Given the description of an element on the screen output the (x, y) to click on. 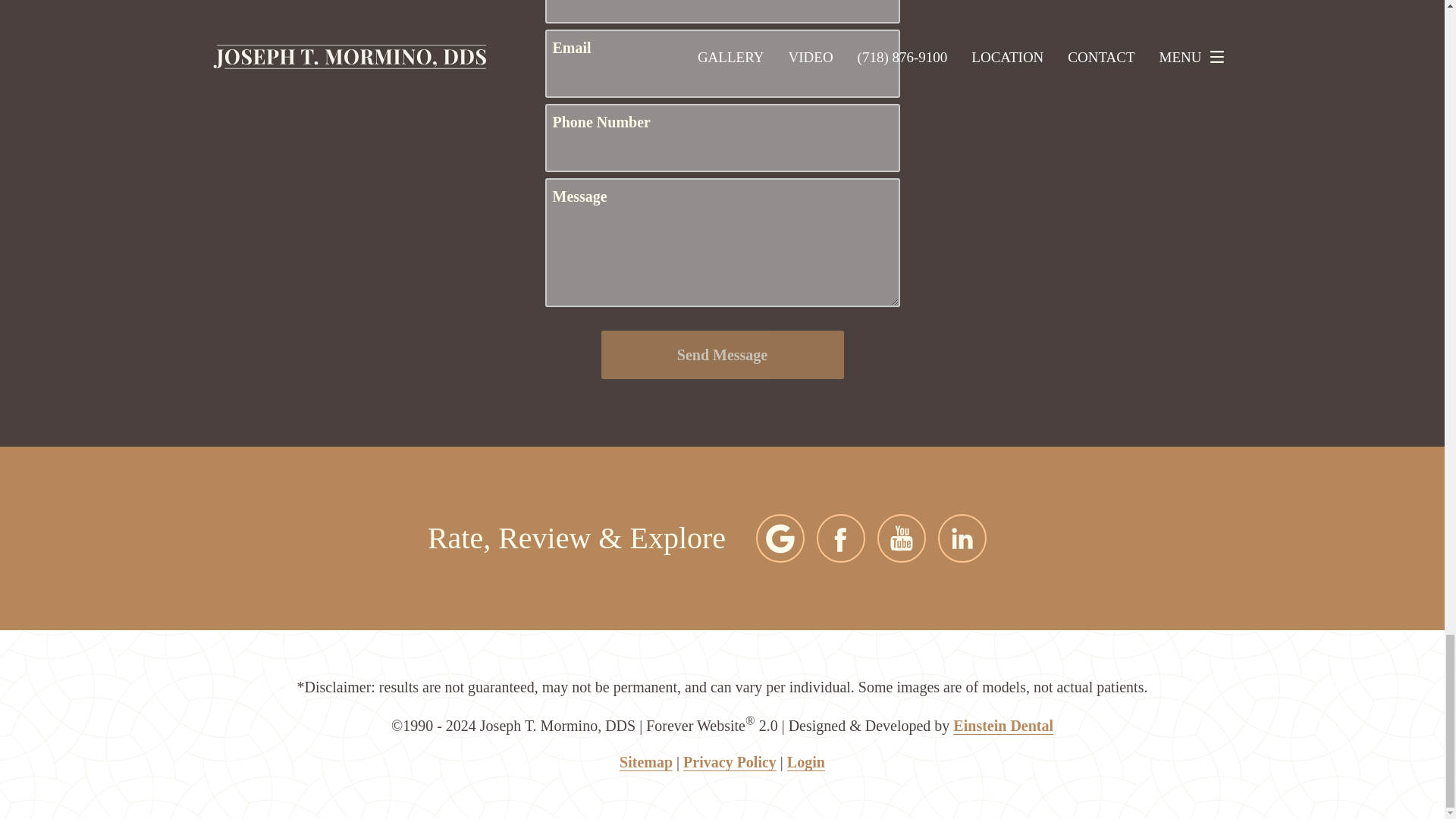
Facebook (840, 538)
LinkedIn (962, 538)
Privacy Policy (729, 762)
Sitemap (646, 762)
YouTube (901, 538)
Einstein Dental (1002, 725)
Google (780, 538)
Login (806, 762)
Send Message (721, 354)
